Given the description of an element on the screen output the (x, y) to click on. 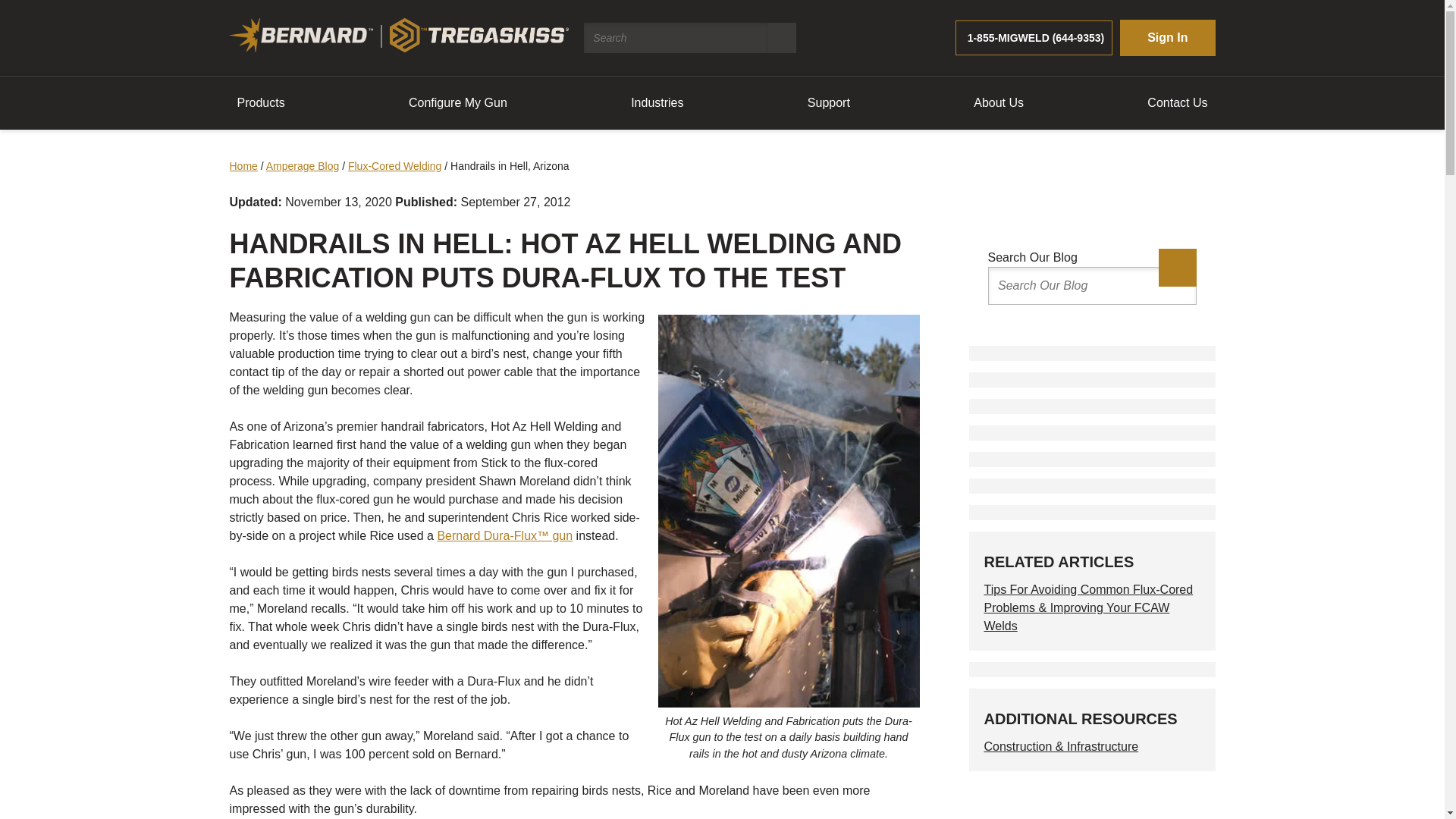
SEARCH (782, 37)
Products (260, 102)
Sign In (1166, 37)
Search for: (675, 37)
